Given the description of an element on the screen output the (x, y) to click on. 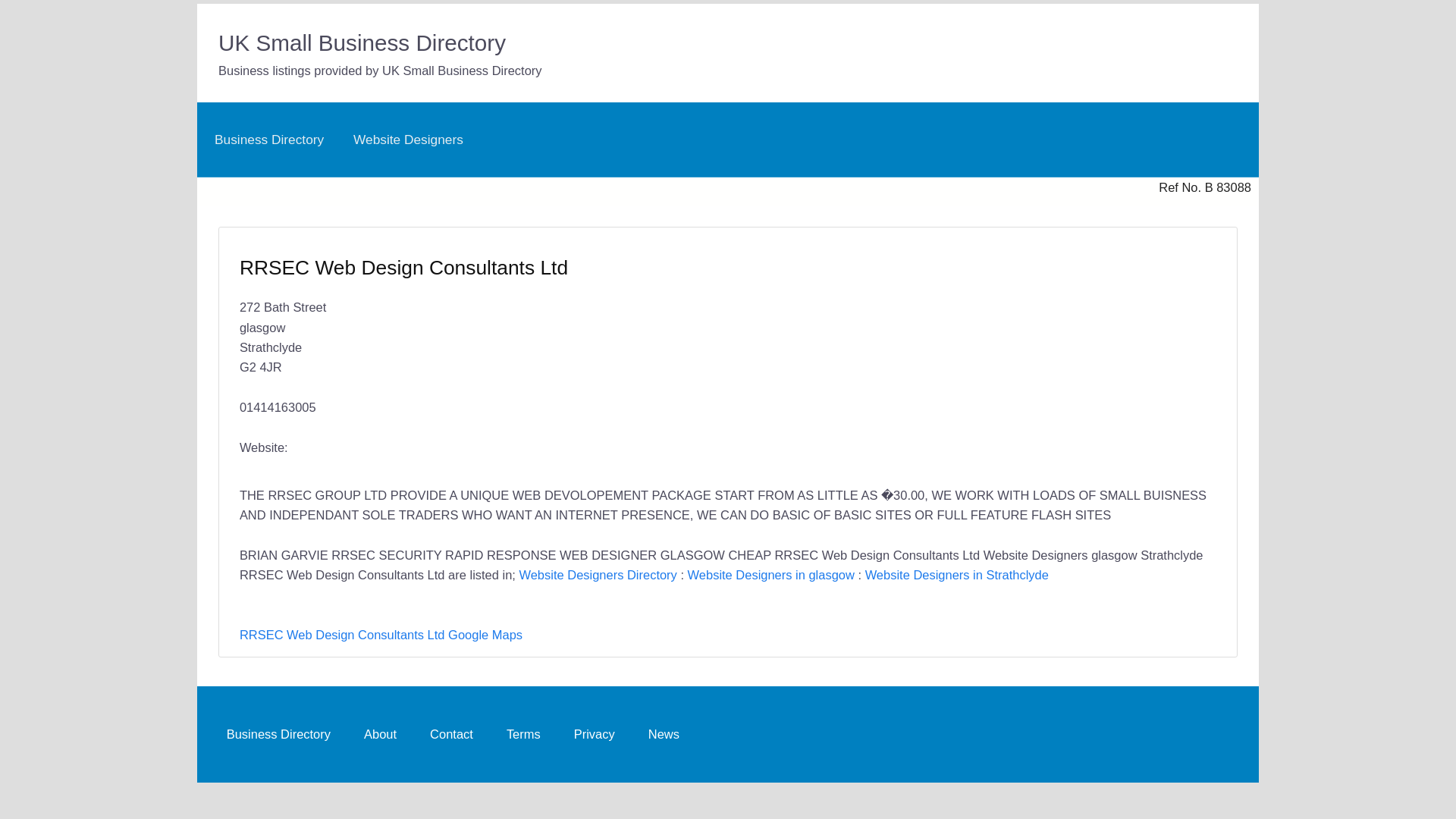
Privacy (593, 733)
News (663, 733)
Business Directory (269, 139)
Advertisement (964, 345)
RRSEC Web Design Consultants Ltd Google Maps (381, 634)
Business Directory (277, 733)
Website Designers (407, 139)
About (379, 733)
Website Designers in Strathclyde (956, 574)
Website Designers in glasgow (770, 574)
Contact (451, 733)
Terms (523, 733)
Website Designers Directory (597, 574)
